Given the description of an element on the screen output the (x, y) to click on. 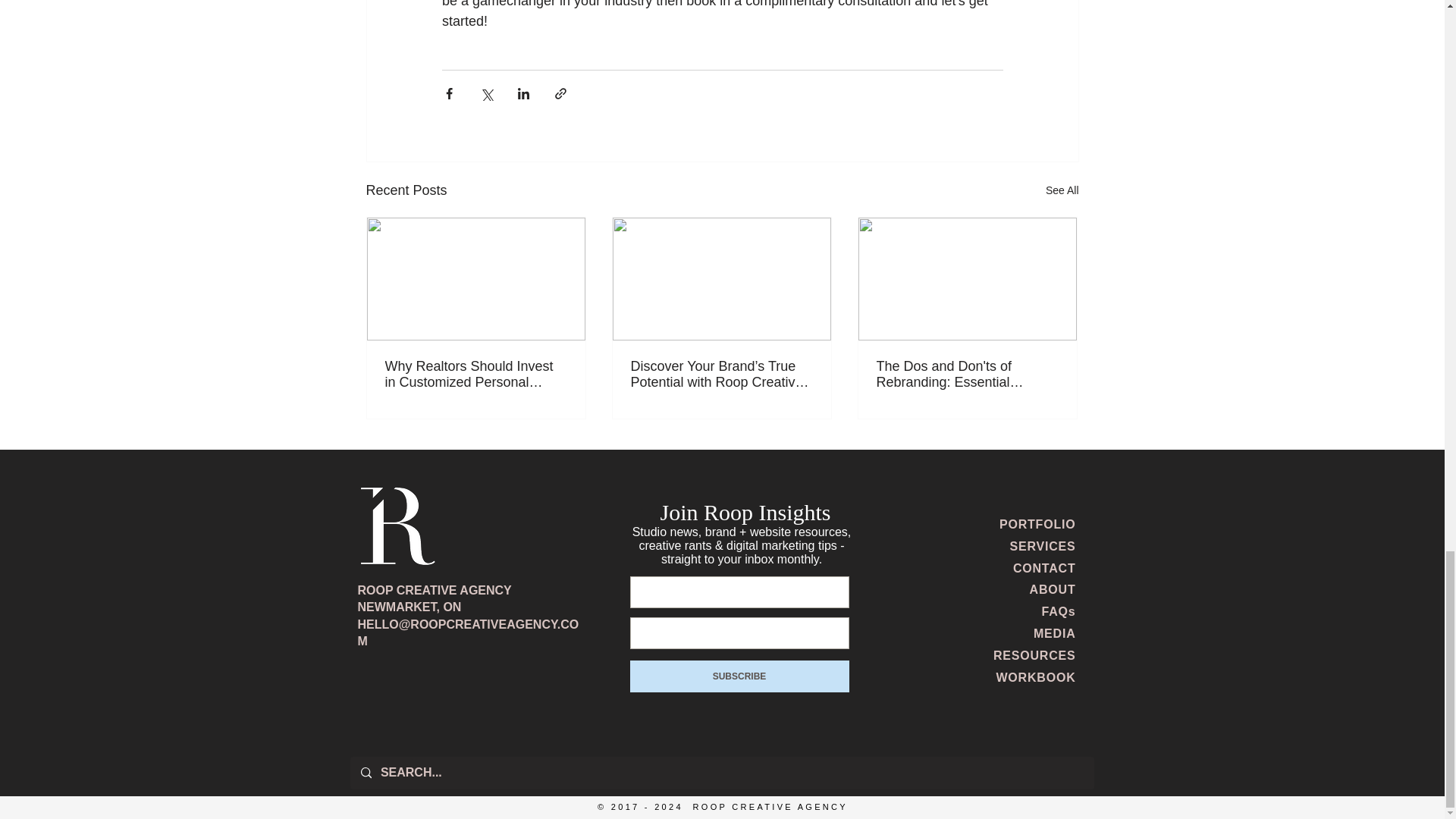
SUBSCRIBE (738, 676)
See All (1061, 190)
ROOP CREATIVE AGENCY (435, 590)
PORTFOLIO (1036, 523)
